Given the description of an element on the screen output the (x, y) to click on. 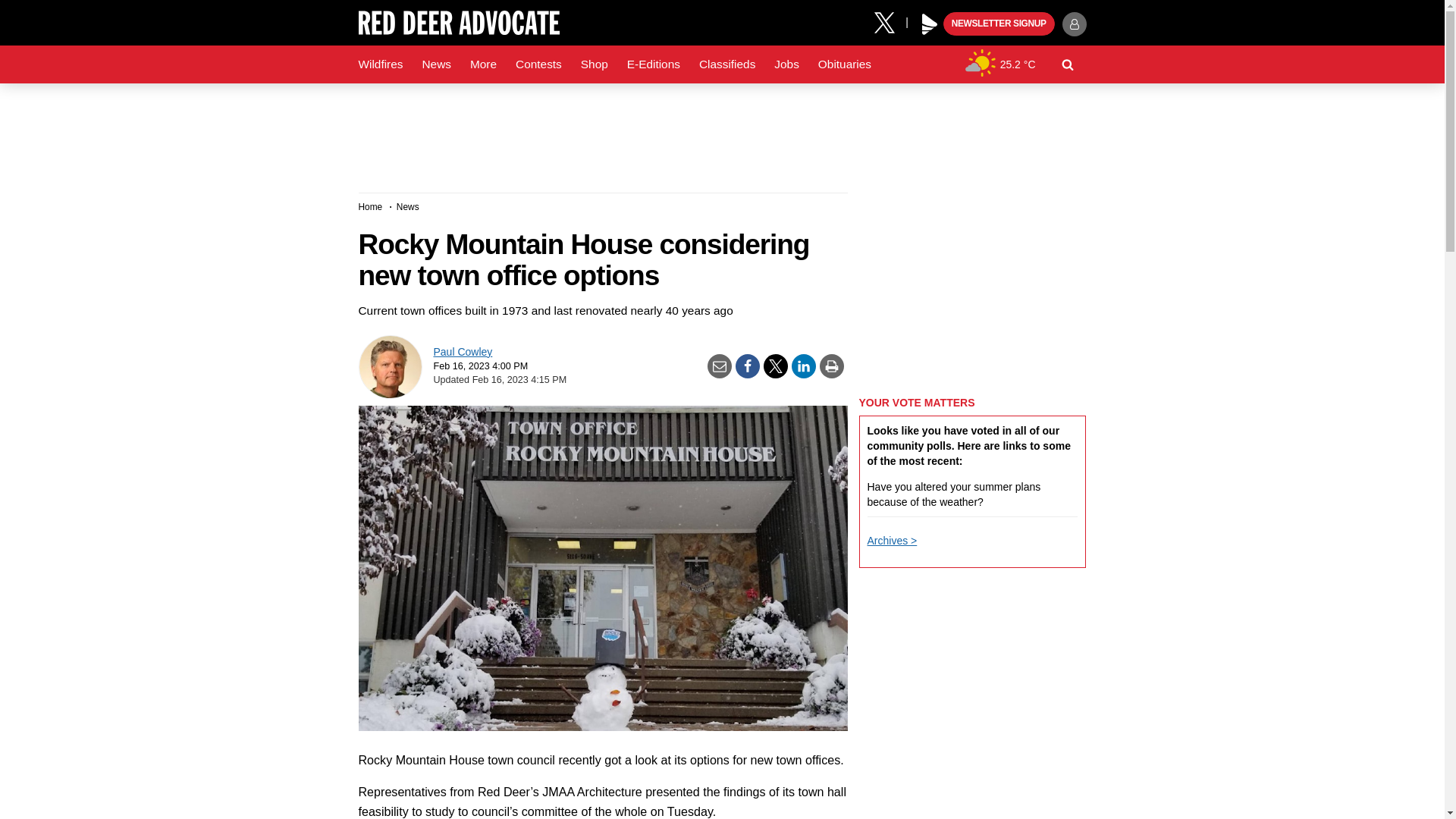
News (435, 64)
X (889, 21)
Black Press Media (929, 24)
Wildfires (380, 64)
Play (929, 24)
NEWSLETTER SIGNUP (998, 24)
